Given the description of an element on the screen output the (x, y) to click on. 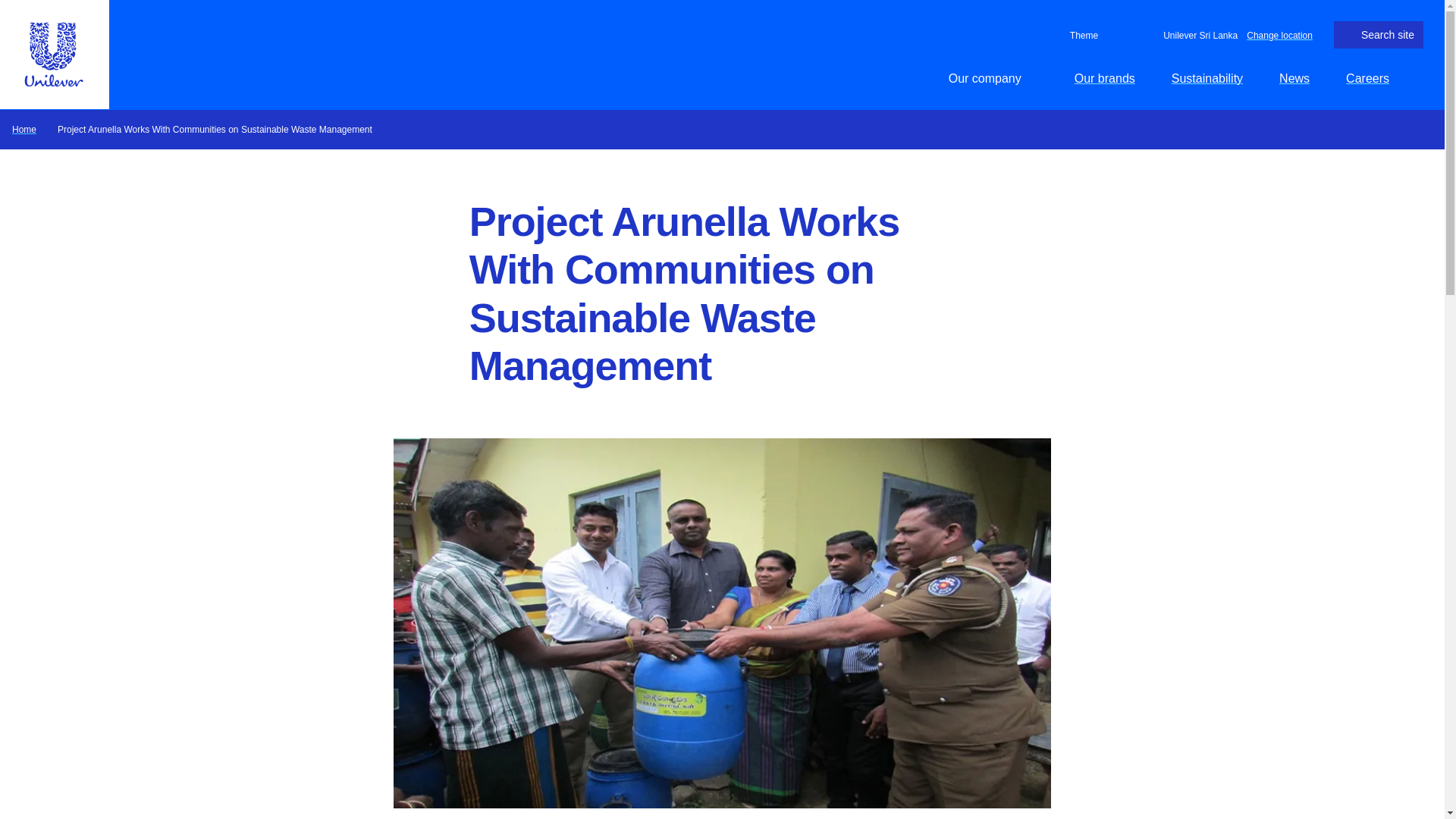
Sustainability (1206, 78)
Change location (1279, 34)
Home (23, 129)
Theme (1081, 35)
Our company (992, 78)
News (1294, 78)
Search site (1378, 34)
Our brands (1104, 78)
